Given the description of an element on the screen output the (x, y) to click on. 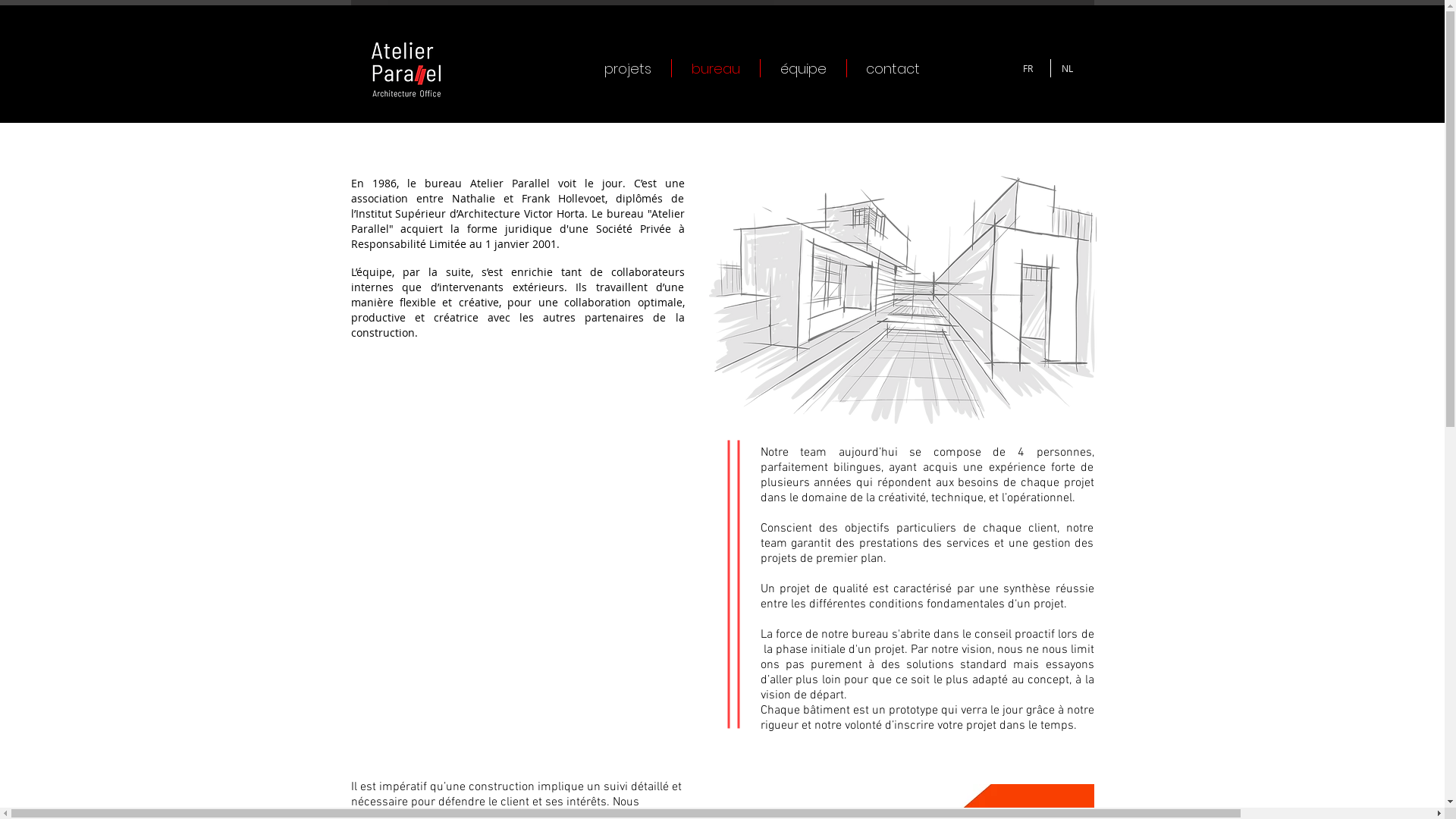
FR Element type: text (1030, 68)
NL Element type: text (1069, 68)
projets Element type: text (626, 68)
bureau Element type: text (715, 68)
contact Element type: text (892, 68)
